Given the description of an element on the screen output the (x, y) to click on. 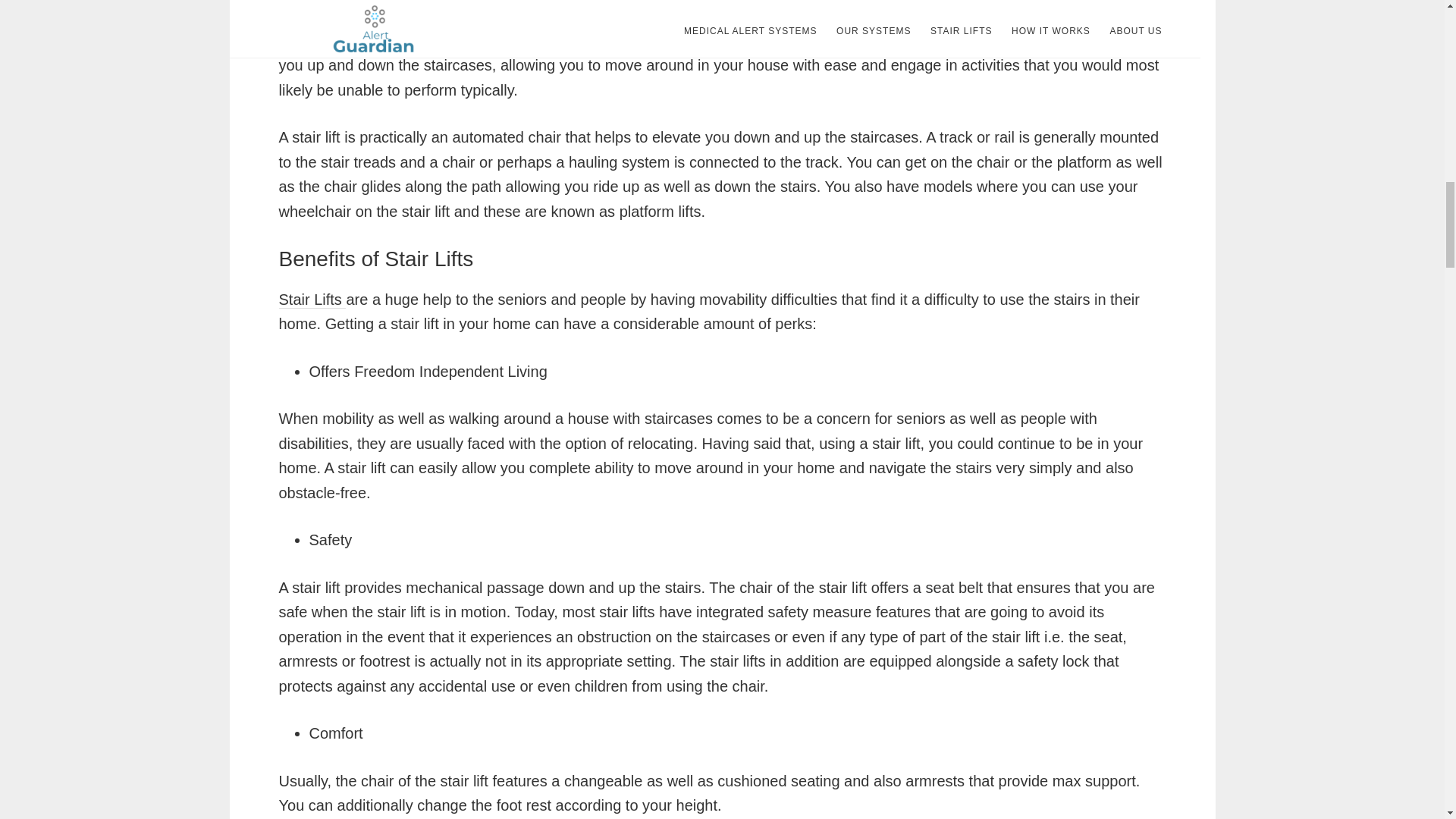
Stair Lifts (312, 299)
